Given the description of an element on the screen output the (x, y) to click on. 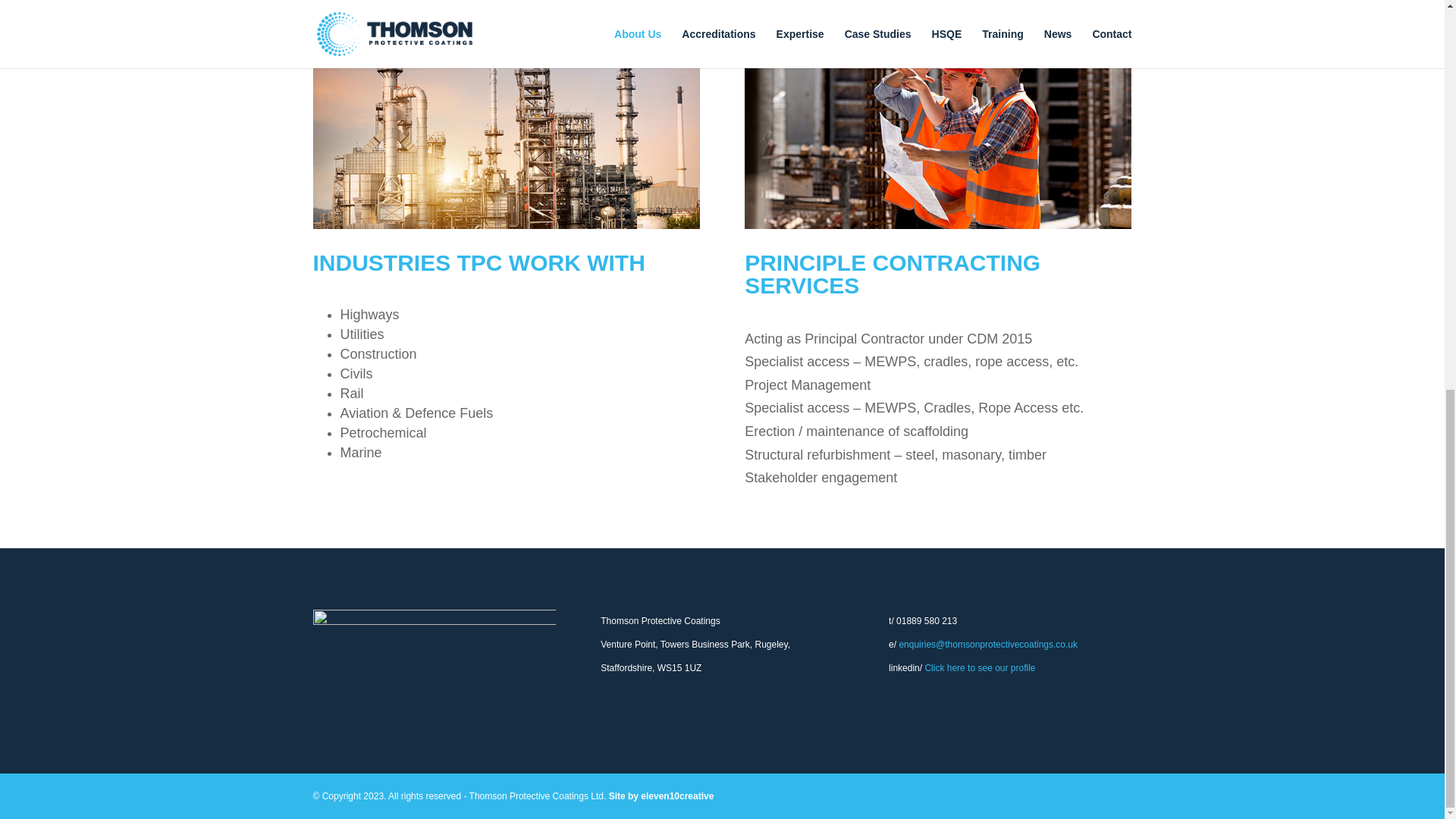
PM (937, 120)
TPC-Navy-Reverse (433, 643)
Site by eleven10creative (661, 796)
Click here to see our profile (979, 667)
Petro-Chemical (505, 120)
